Given the description of an element on the screen output the (x, y) to click on. 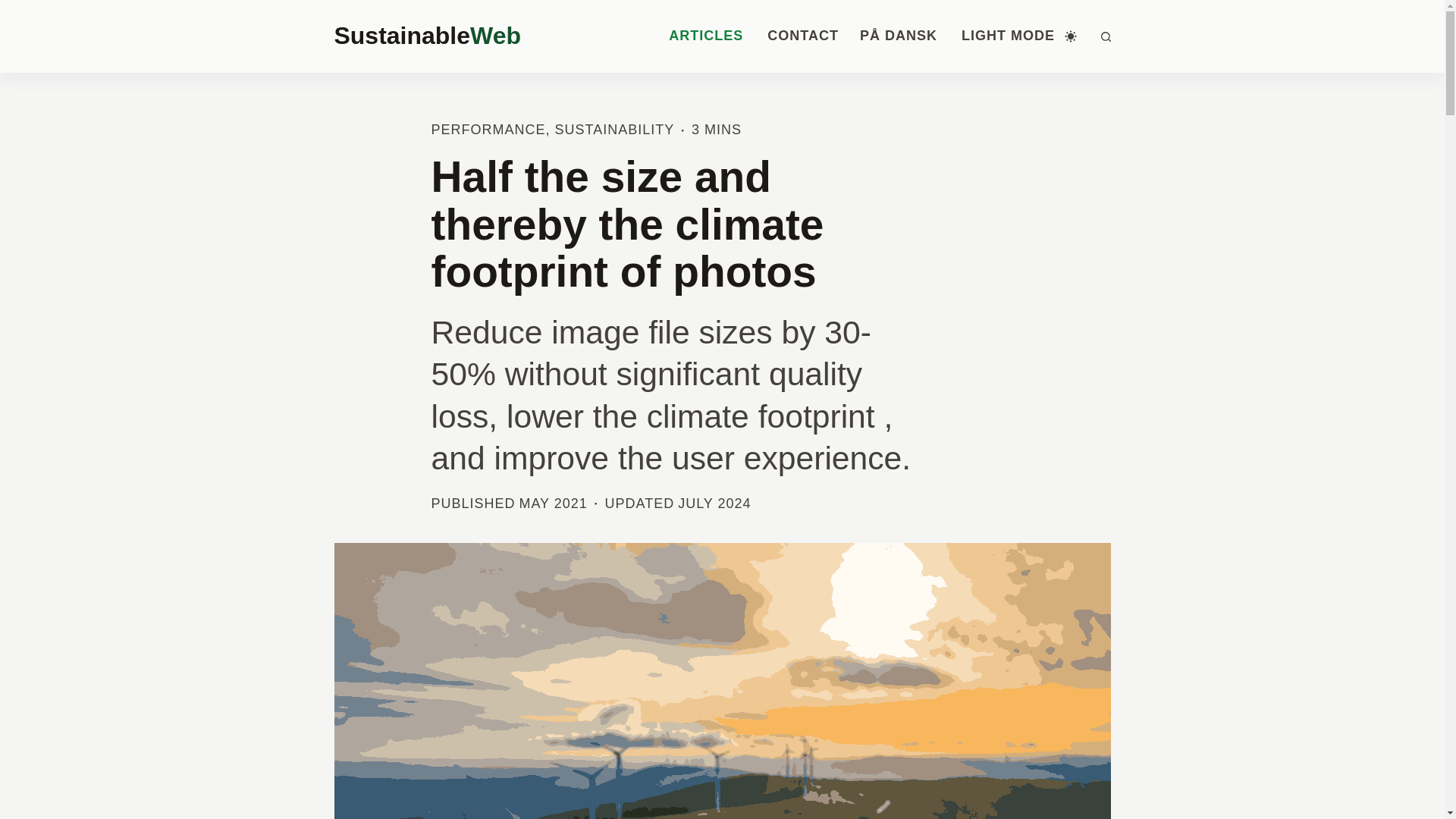
PERFORMANCE (487, 129)
ARTICLES (705, 36)
LIGHT MODE (1018, 36)
CONTACT (802, 36)
Skip to content (15, 7)
SustainableWeb (426, 35)
Half the size and thereby the climate footprint of photos (721, 224)
SUSTAINABILITY (614, 129)
